Given the description of an element on the screen output the (x, y) to click on. 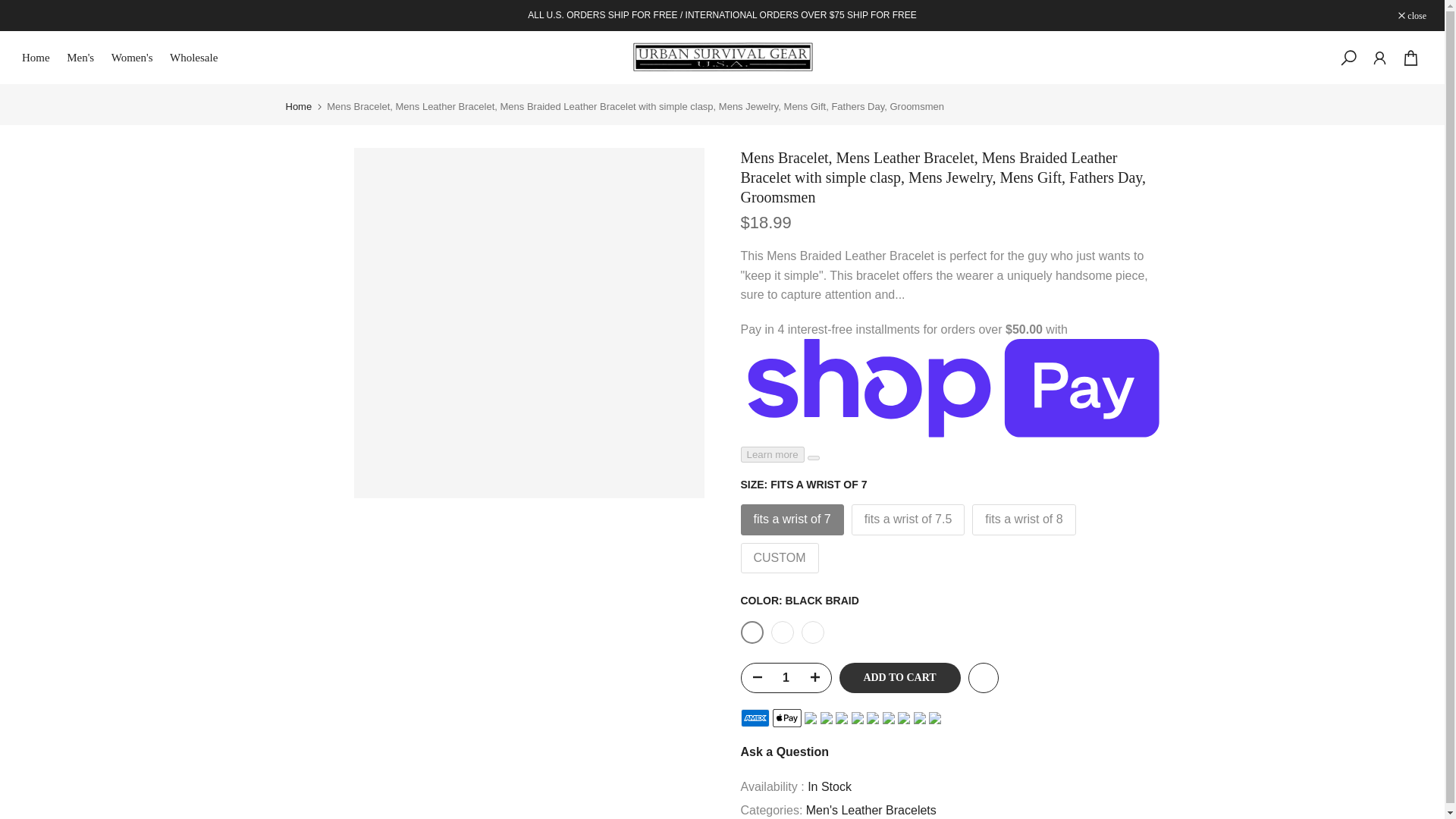
Wholesale (198, 57)
Men's Leather Bracelets (871, 809)
ADD TO CART (898, 677)
Women's (136, 57)
Men's (84, 57)
Home (298, 106)
1 (786, 677)
Skip to content (10, 7)
close (1411, 14)
Dark Brown Braid (812, 631)
